Given the description of an element on the screen output the (x, y) to click on. 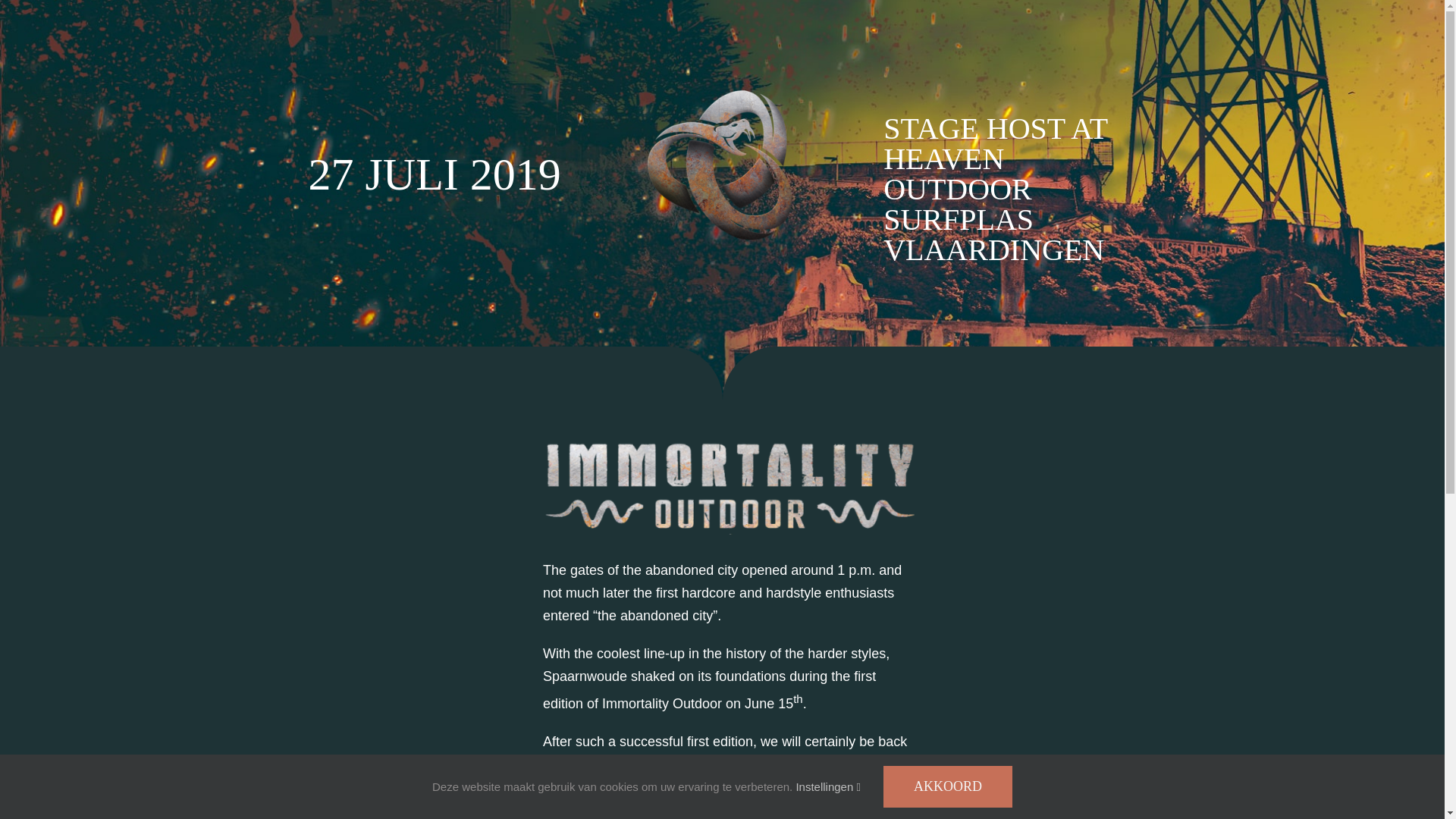
Instellingen (827, 785)
AKKOORD (947, 786)
Logo slang trans 1080 (722, 165)
